Given the description of an element on the screen output the (x, y) to click on. 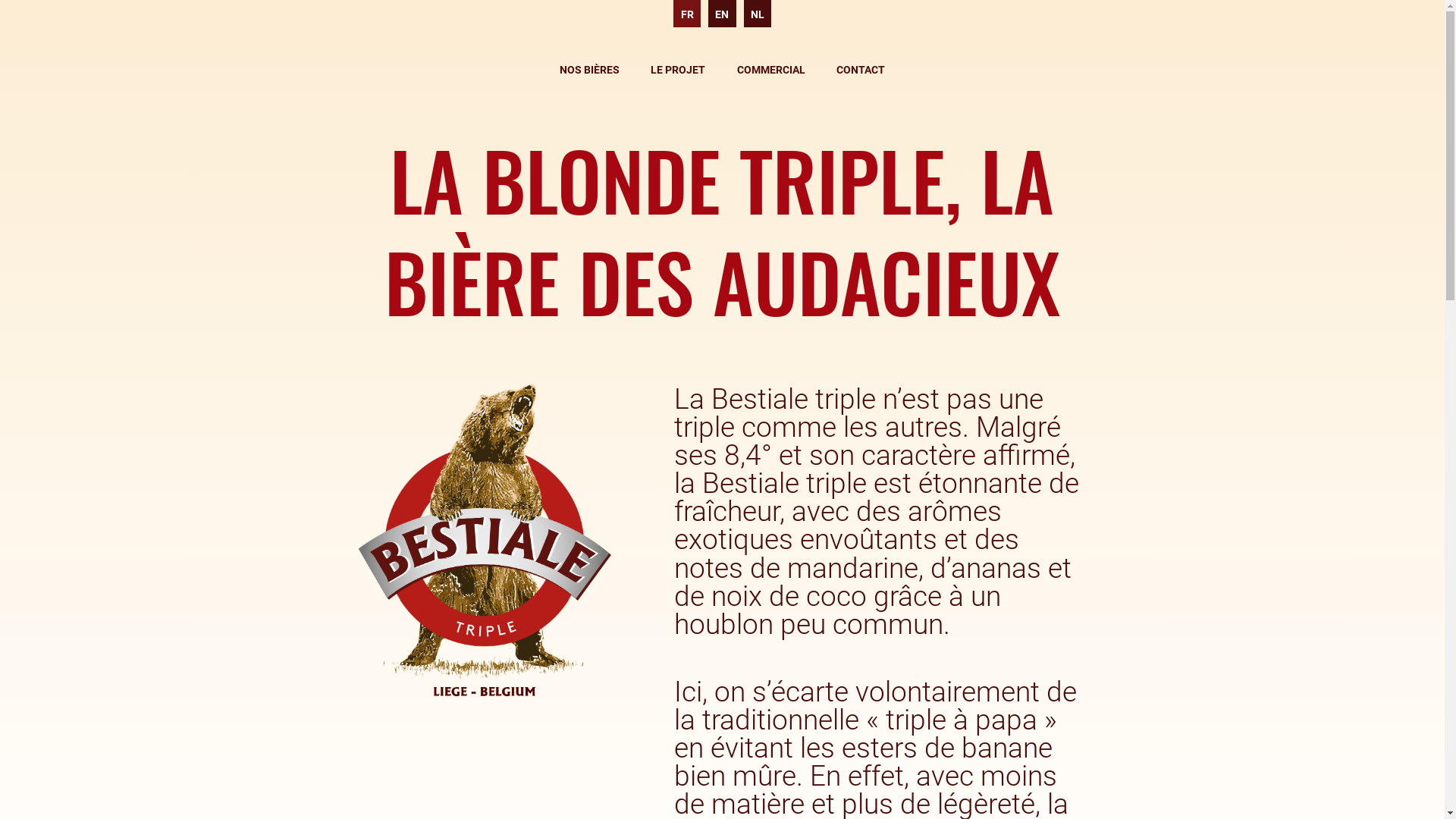
EN Element type: text (721, 13)
CONTACT Element type: text (860, 69)
LE PROJET Element type: text (677, 69)
FR Element type: text (686, 13)
NL Element type: text (757, 13)
COMMERCIAL Element type: text (771, 69)
